Given the description of an element on the screen output the (x, y) to click on. 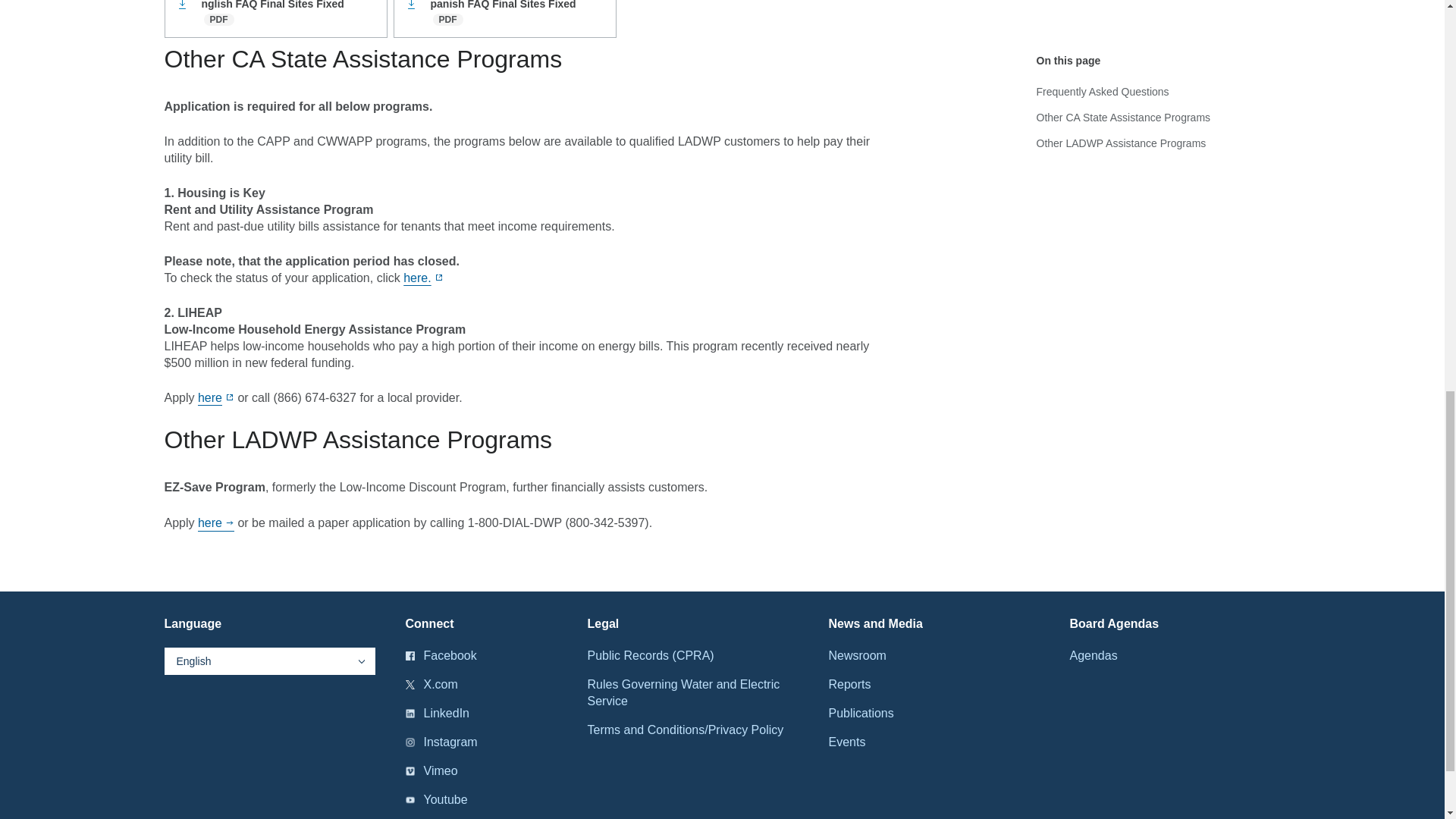
footer-icon-instagram.svg (408, 741)
Legal (602, 623)
News and media (874, 623)
Twitter Logo.svg (408, 684)
footer-icon-facebook (408, 655)
footer-icon-linkedin.svg (408, 713)
footer-icon-youtube.svg (408, 799)
Reports (849, 684)
EZ-SAVE Program (216, 523)
footer-icon-vimeo.svg (408, 770)
